Given the description of an element on the screen output the (x, y) to click on. 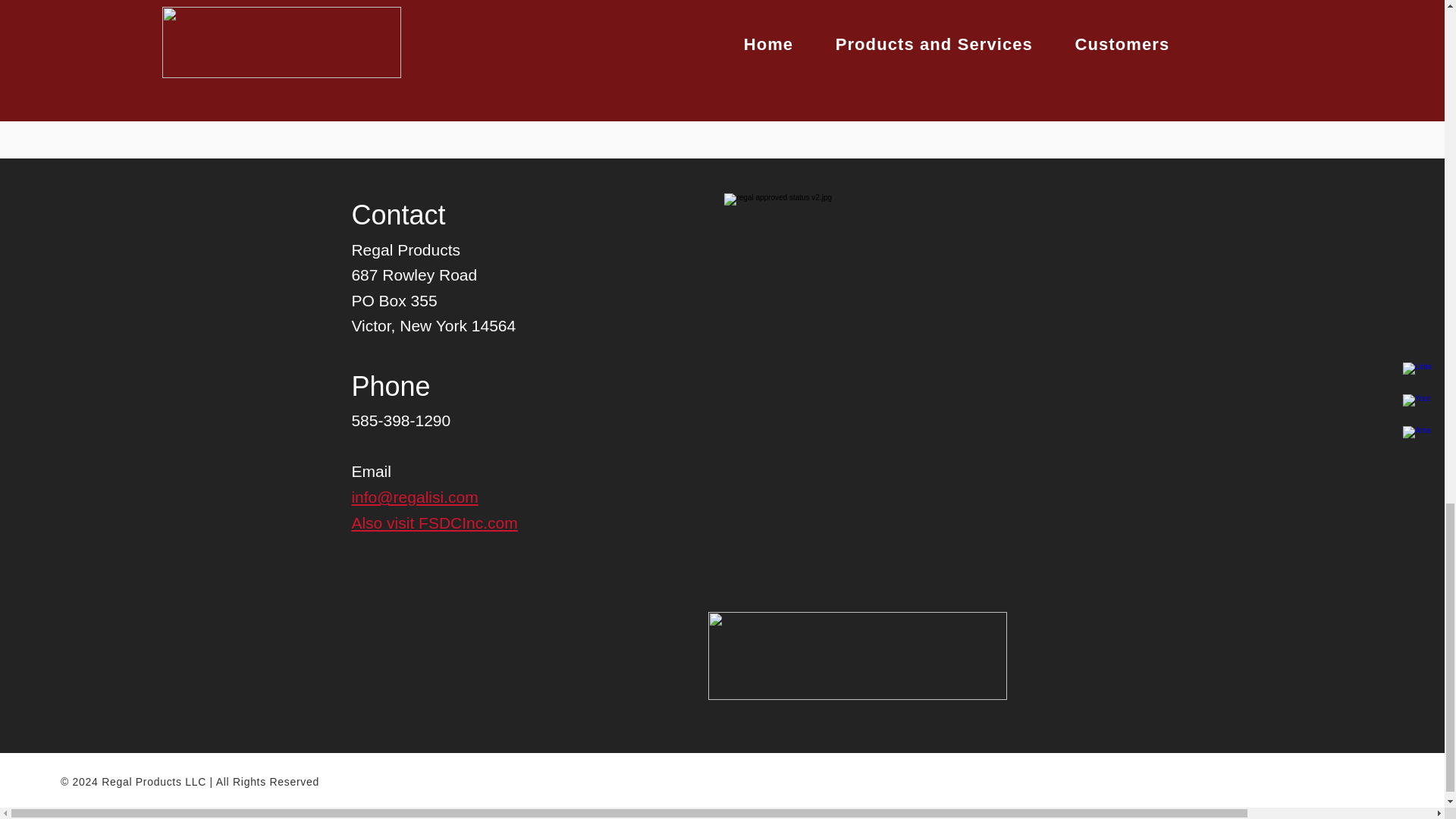
Also visit FSDCInc.com (433, 522)
